Given the description of an element on the screen output the (x, y) to click on. 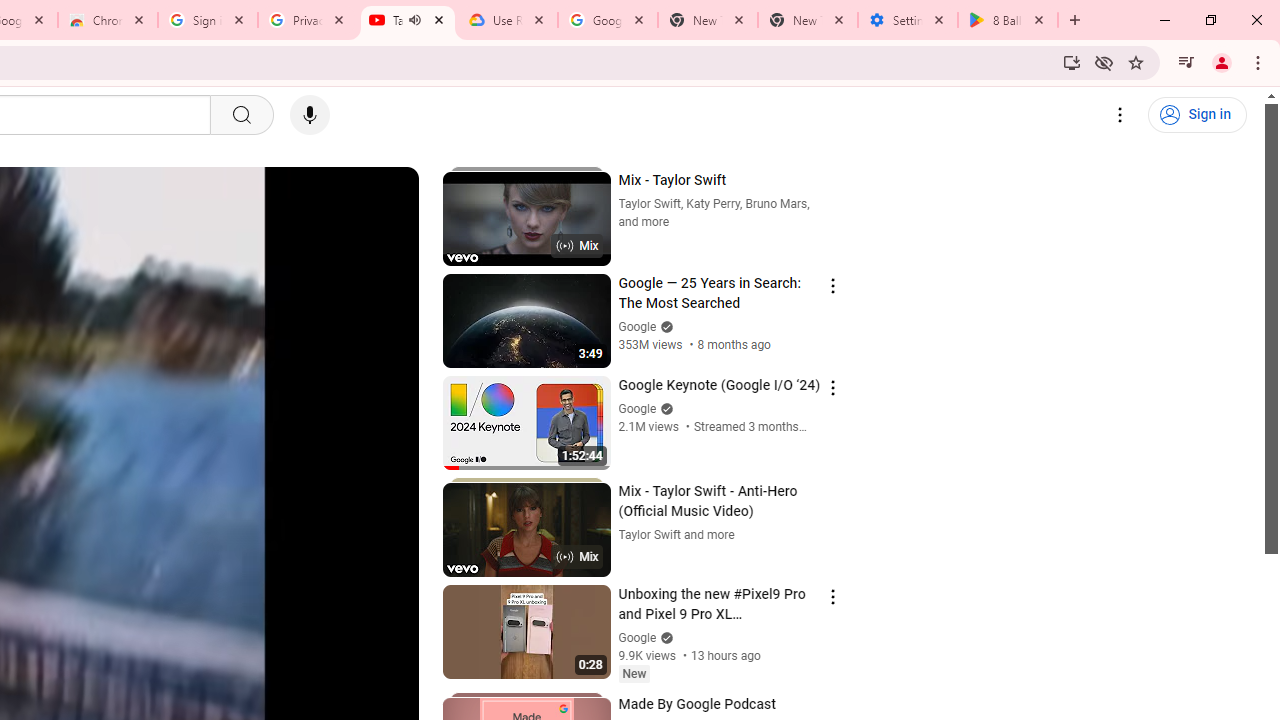
8 Ball Pool - Apps on Google Play (1007, 20)
